Given the description of an element on the screen output the (x, y) to click on. 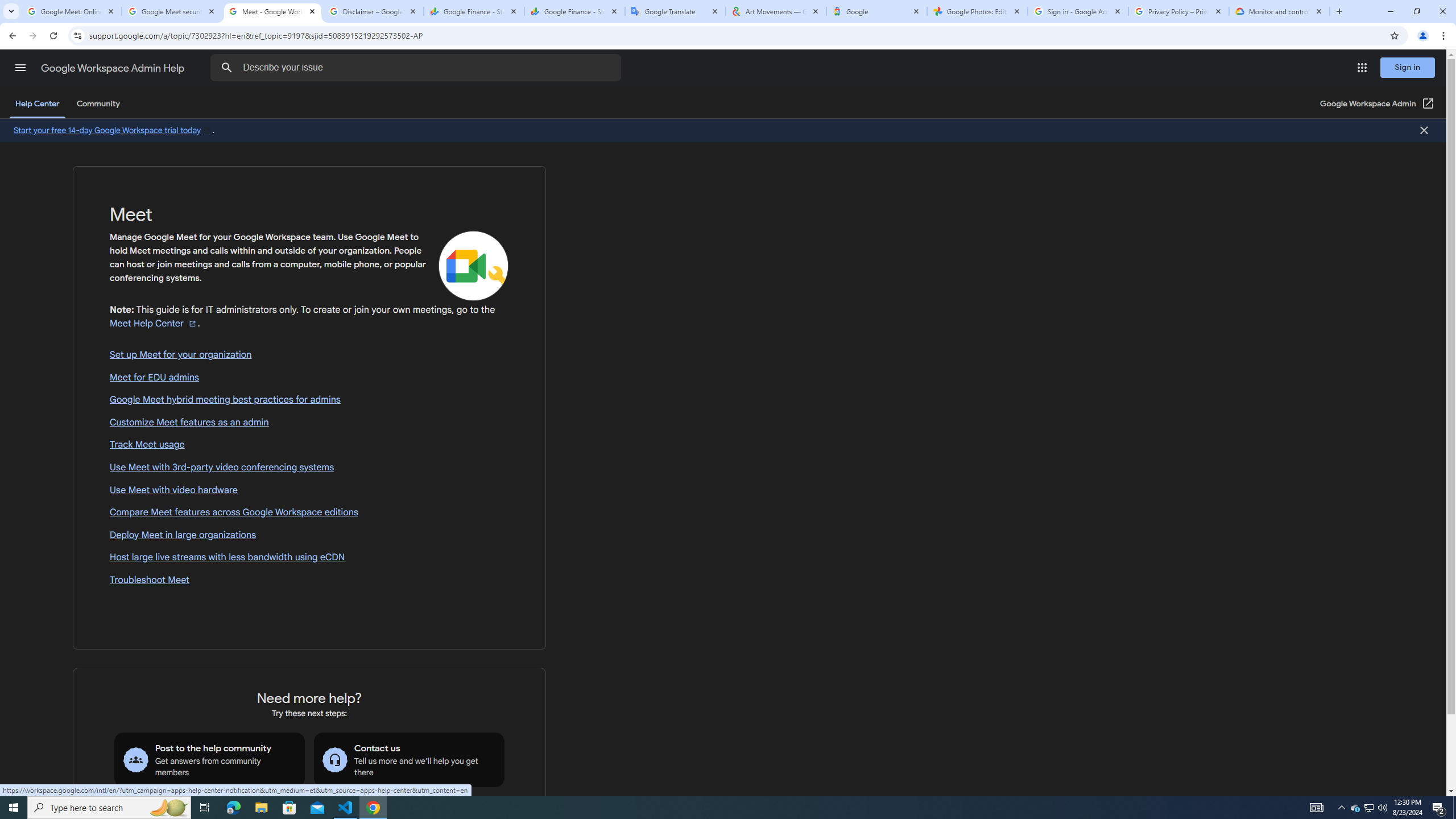
Track Meet usage (309, 444)
Customize Meet features as an admin (309, 422)
Search Help Center (227, 67)
